Given the description of an element on the screen output the (x, y) to click on. 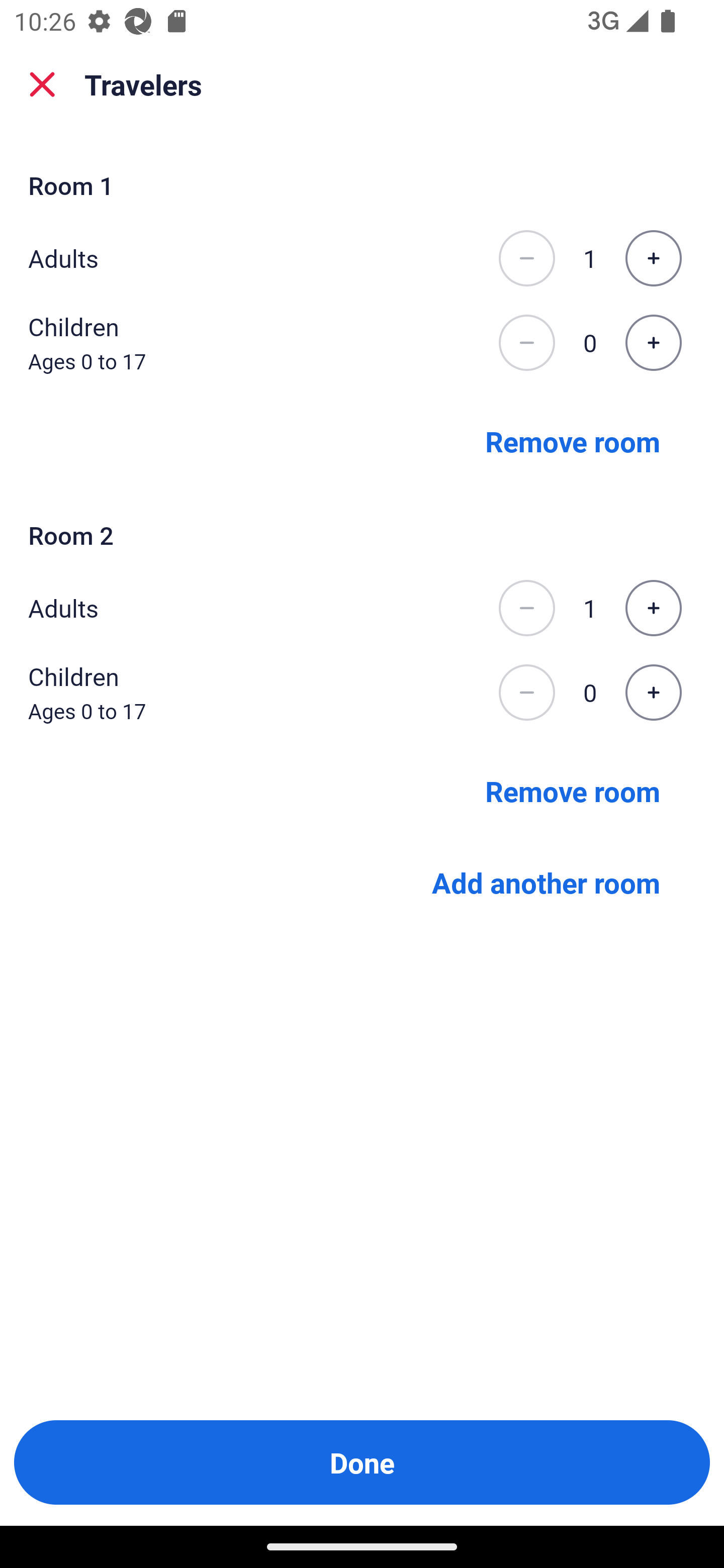
close (42, 84)
Decrease the number of adults (526, 258)
Increase the number of adults (653, 258)
Decrease the number of children (526, 343)
Increase the number of children (653, 343)
Remove room (572, 440)
Decrease the number of adults (526, 608)
Increase the number of adults (653, 608)
Decrease the number of children (526, 692)
Increase the number of children (653, 692)
Remove room (572, 790)
Add another room (545, 882)
Done (361, 1462)
